Given the description of an element on the screen output the (x, y) to click on. 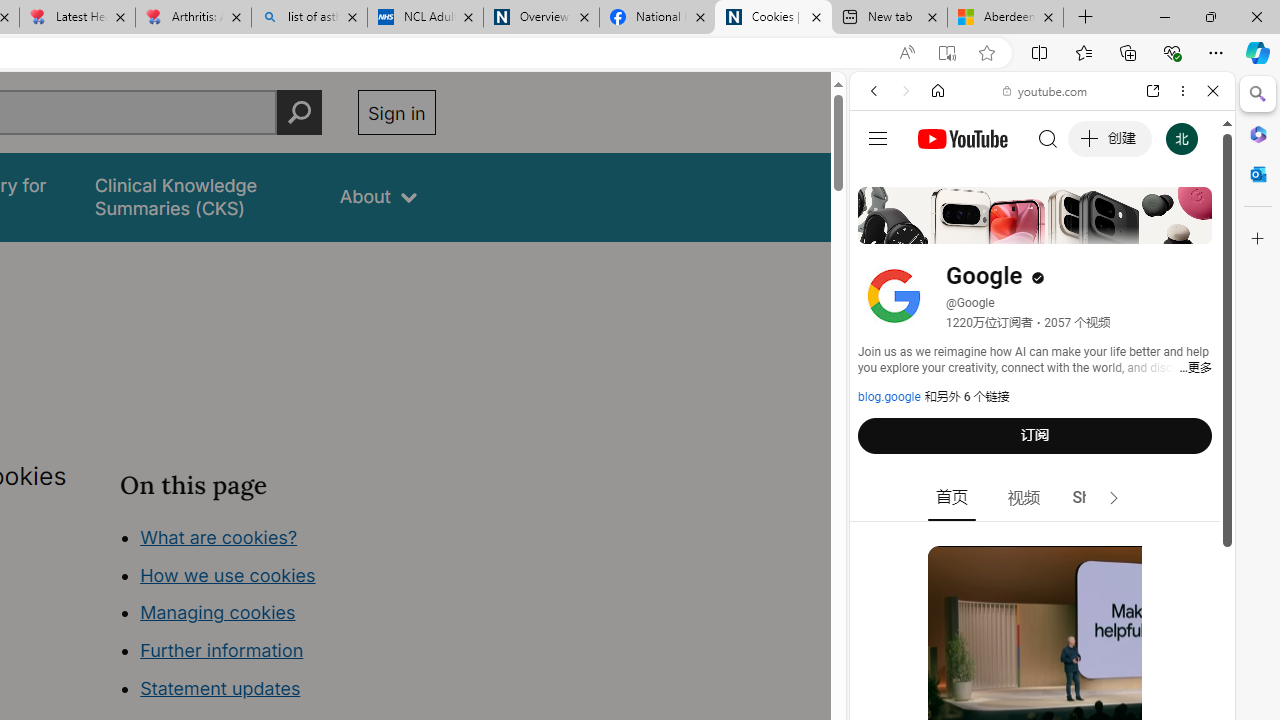
Class: in-page-nav__list (277, 615)
WEB   (882, 228)
Google (1042, 494)
list of asthma inhalers uk - Search (309, 17)
SEARCH TOOLS (1093, 228)
